Given the description of an element on the screen output the (x, y) to click on. 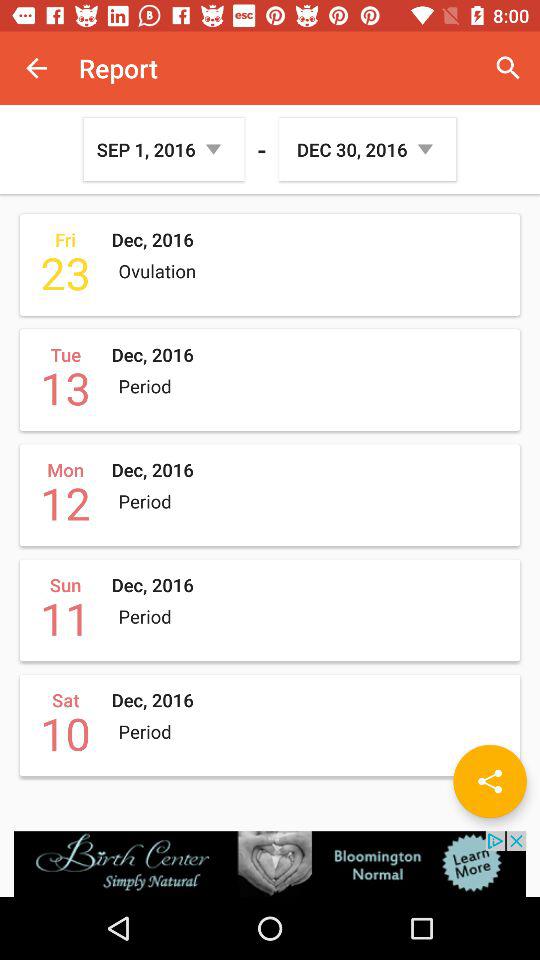
advertisement link (270, 864)
